Given the description of an element on the screen output the (x, y) to click on. 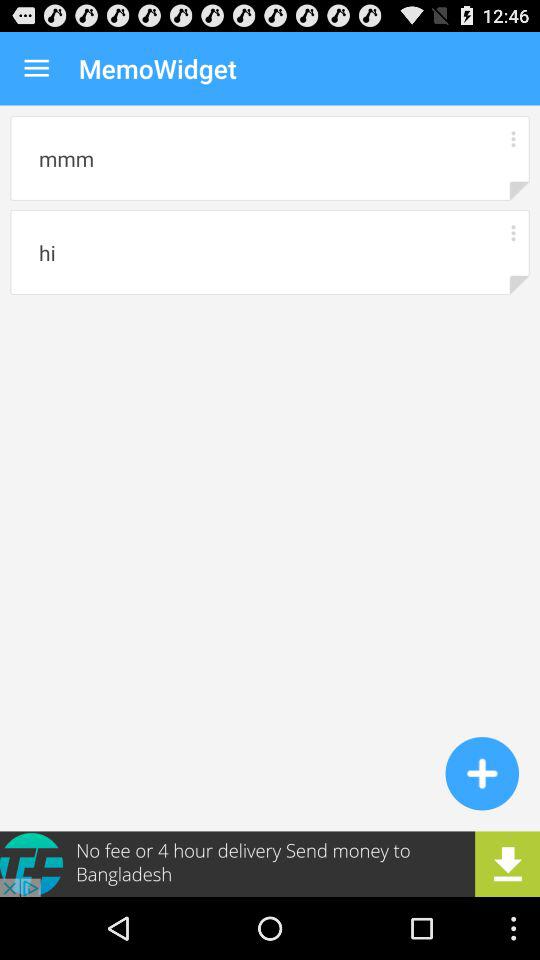
menu button (512, 138)
